Given the description of an element on the screen output the (x, y) to click on. 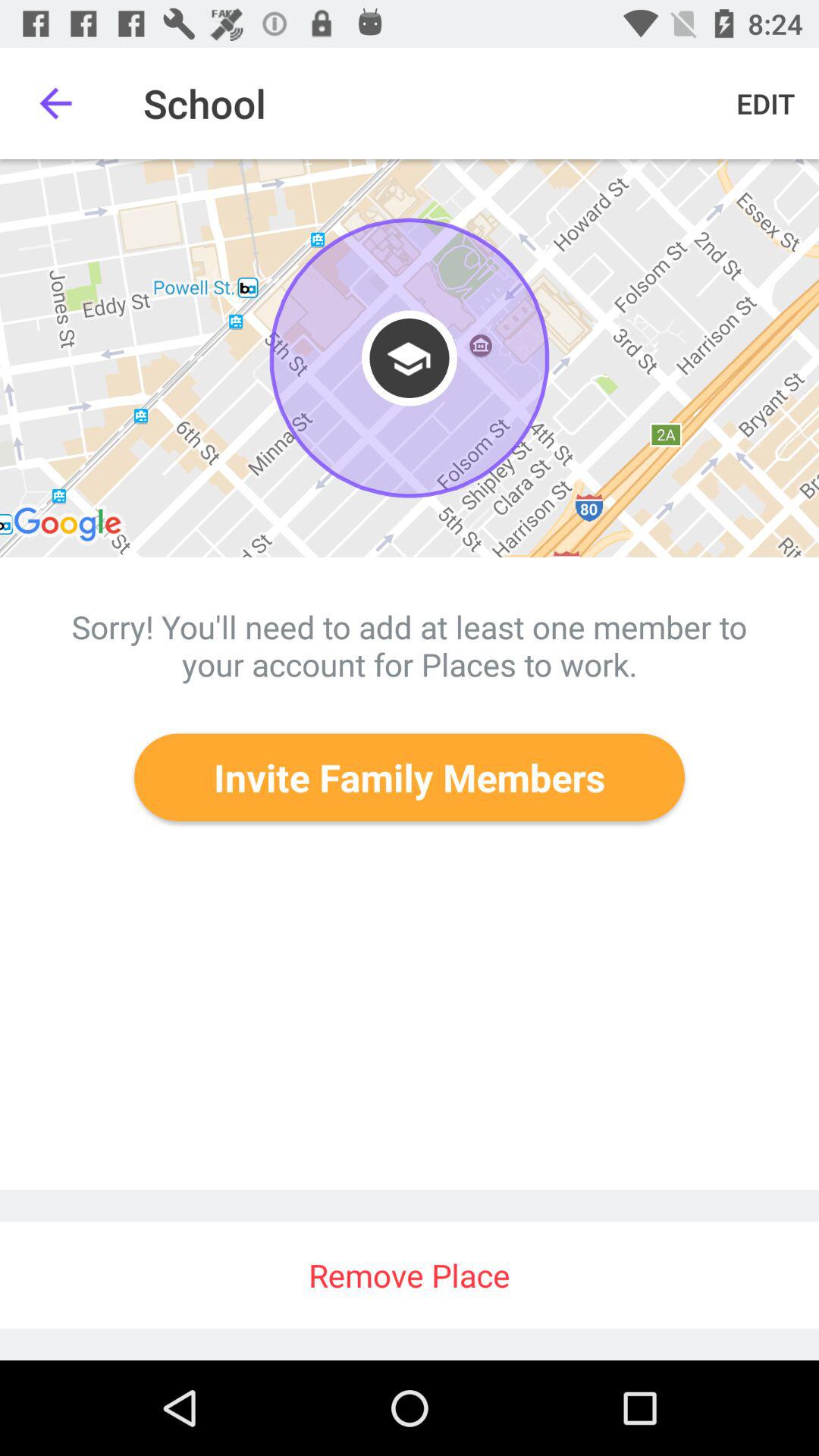
turn off item next to the school (765, 103)
